Given the description of an element on the screen output the (x, y) to click on. 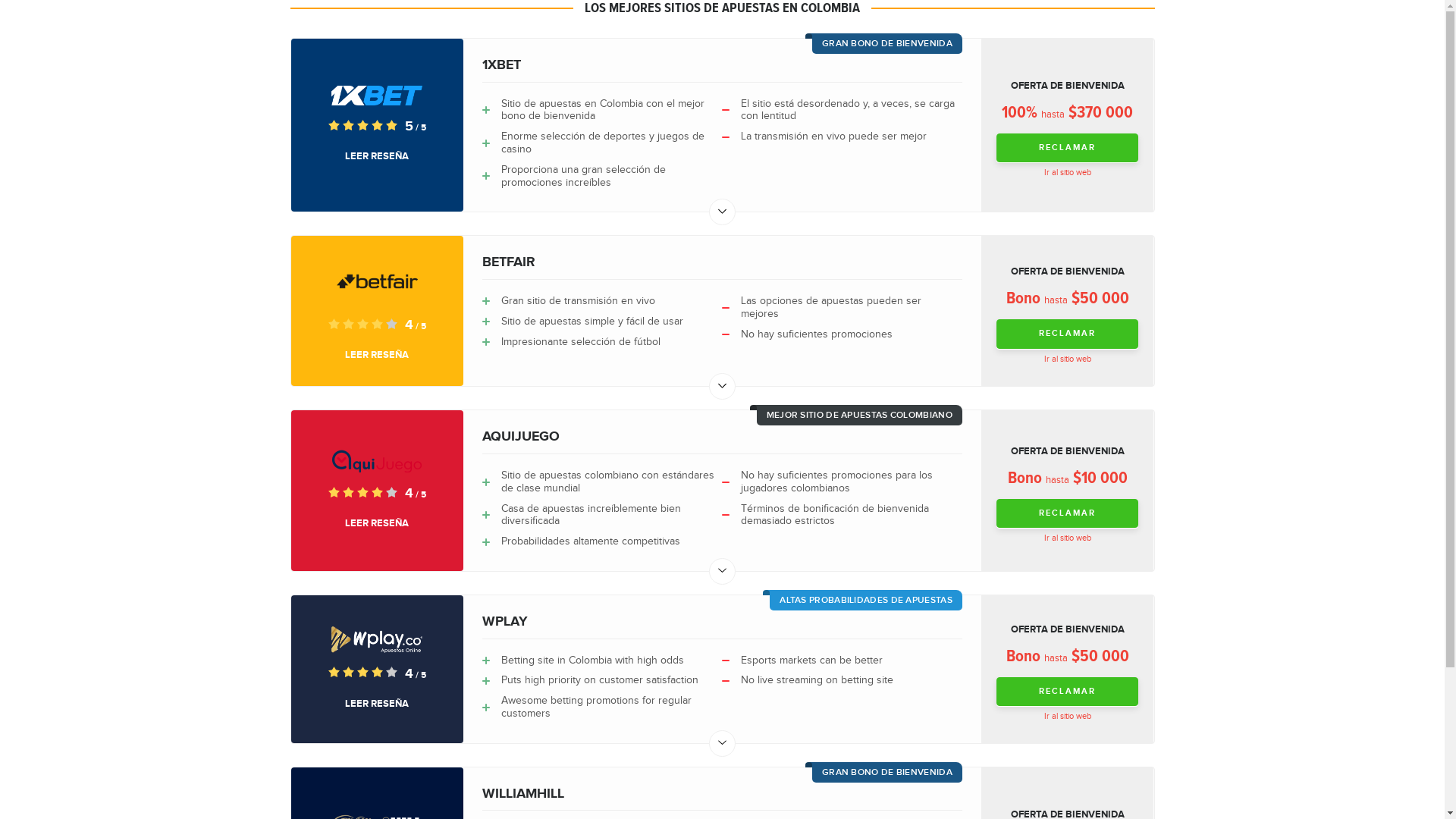
RECLAMAR Element type: text (1067, 513)
Ir al sitio web Element type: text (1067, 359)
RECLAMAR Element type: text (1067, 333)
Ir al sitio web Element type: text (1067, 538)
RECLAMAR Element type: text (1067, 148)
Ir al sitio web Element type: text (1067, 172)
RECLAMAR Element type: text (1067, 691)
Ir al sitio web Element type: text (1067, 716)
